Given the description of an element on the screen output the (x, y) to click on. 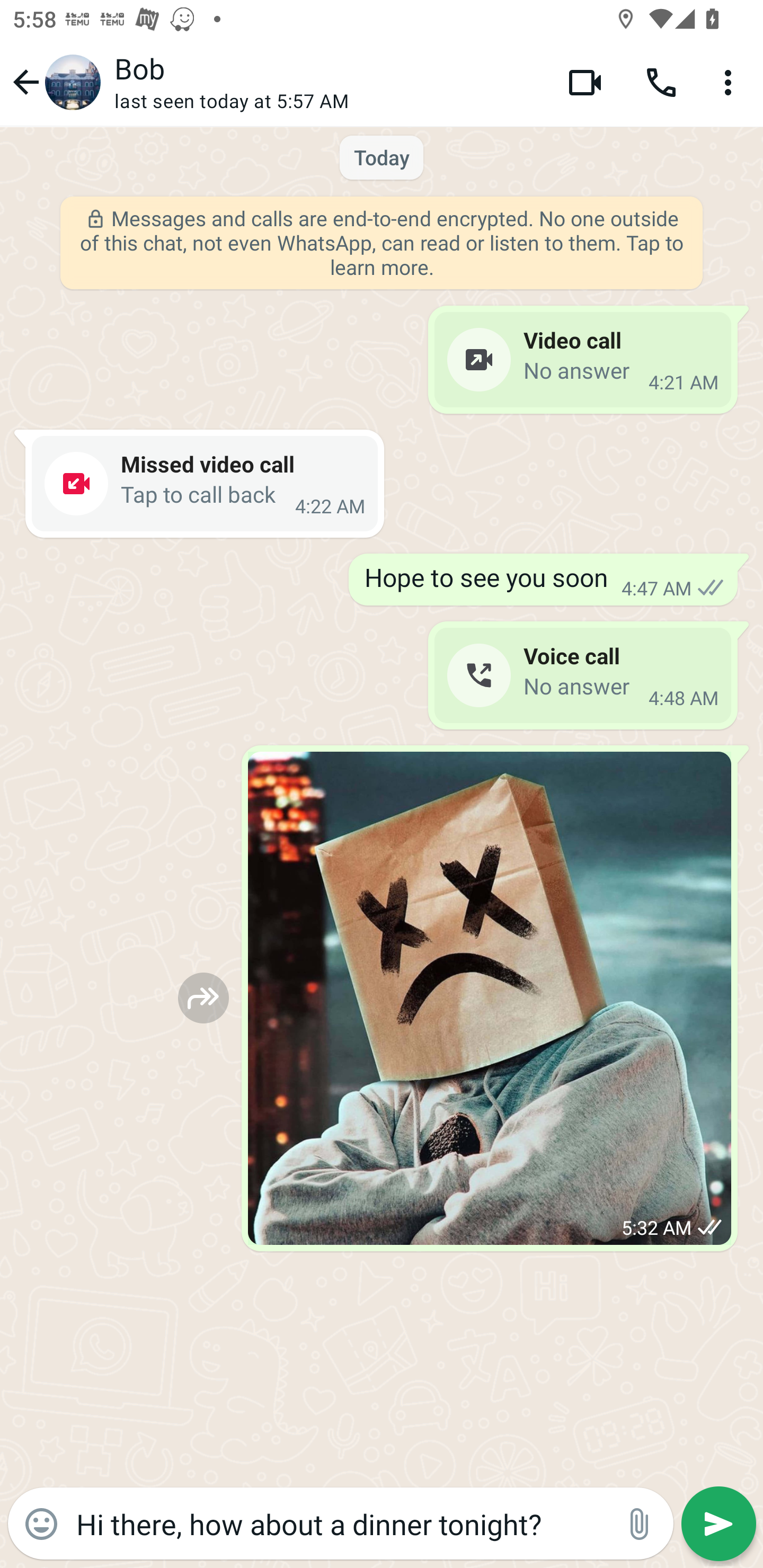
Bob last seen today at 5:57 AM (327, 82)
Navigate up (54, 82)
Video call (585, 81)
Voice call (661, 81)
More options (731, 81)
View photo (488, 997)
Forward to… (202, 997)
Emoji (41, 1523)
Attach (640, 1523)
Send (718, 1523)
Hi there, how about a dinner tonight? (340, 1523)
